Given the description of an element on the screen output the (x, y) to click on. 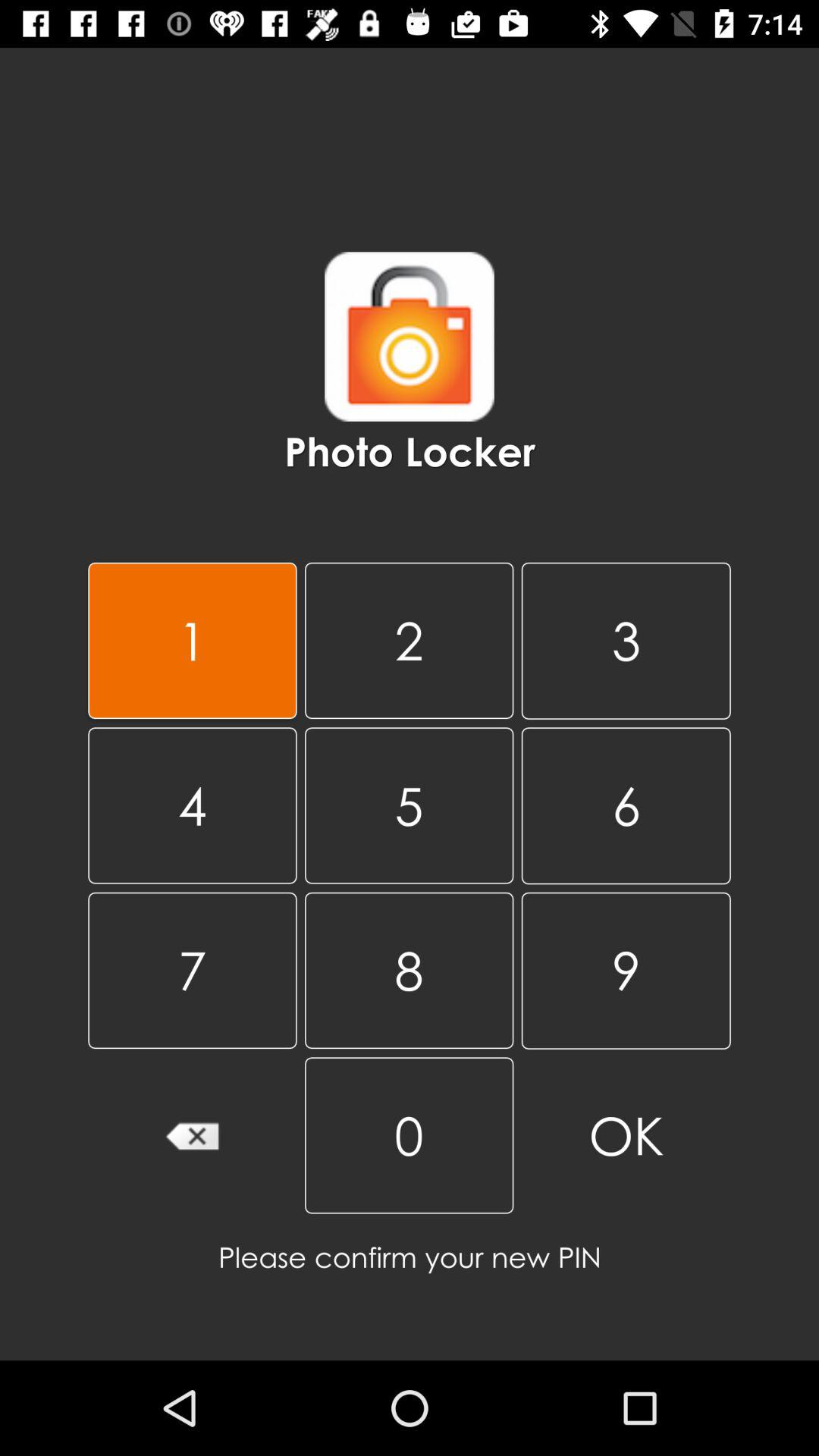
click 9 item (625, 970)
